Given the description of an element on the screen output the (x, y) to click on. 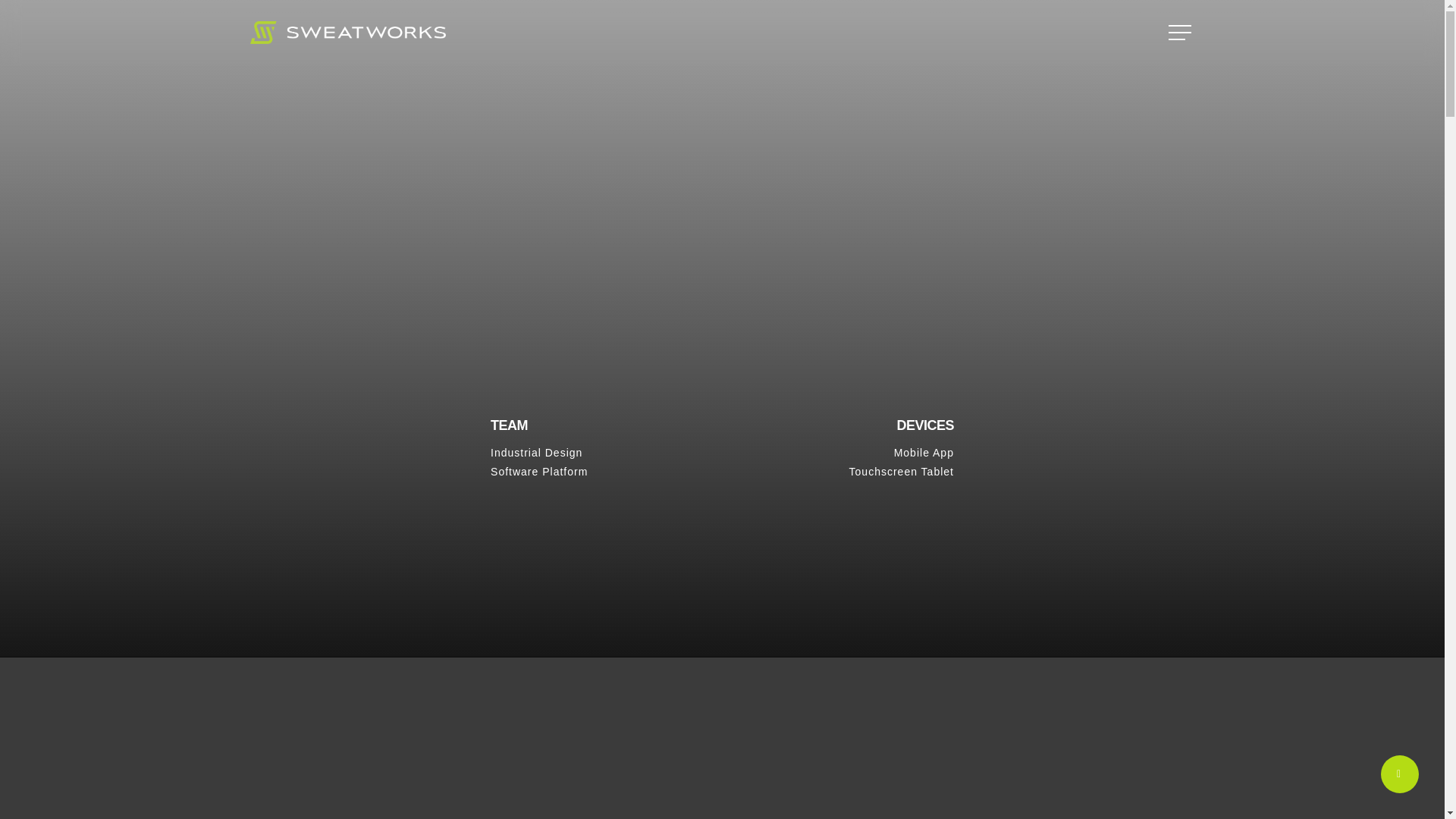
Menu (1181, 32)
